Given the description of an element on the screen output the (x, y) to click on. 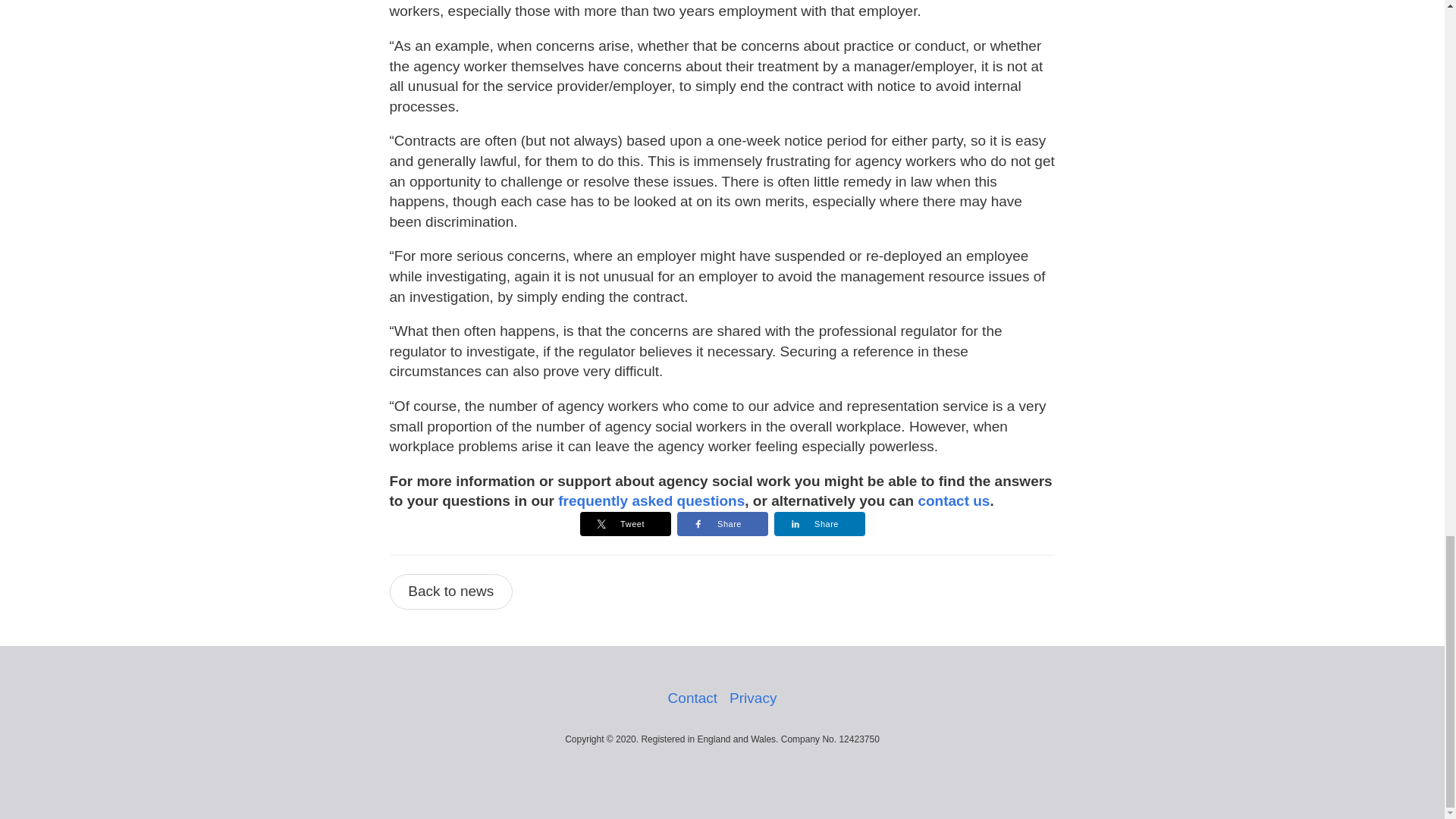
contact us (953, 500)
Contact (692, 697)
frequently asked questions (650, 500)
Privacy (752, 697)
Back to news (451, 592)
